Given the description of an element on the screen output the (x, y) to click on. 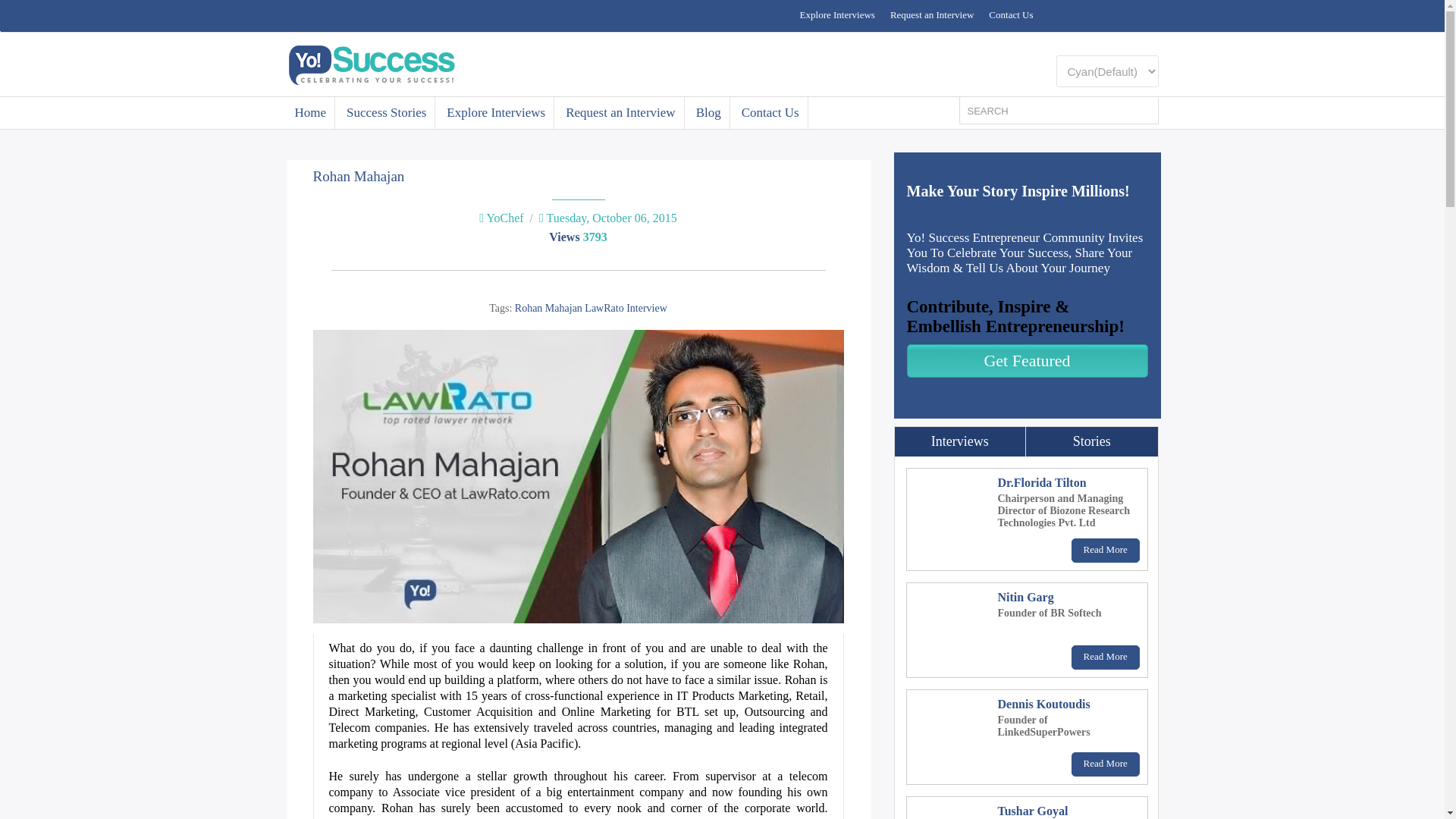
Explore Interviews (496, 112)
Tushar Goyal (1032, 810)
Read More (1105, 550)
Nitin Garg (1025, 596)
Read More (1105, 657)
Read More (1105, 764)
Interviews (960, 441)
Dennis Koutoudis (1043, 703)
Get Featured (1027, 360)
Success Stories (386, 112)
